Given the description of an element on the screen output the (x, y) to click on. 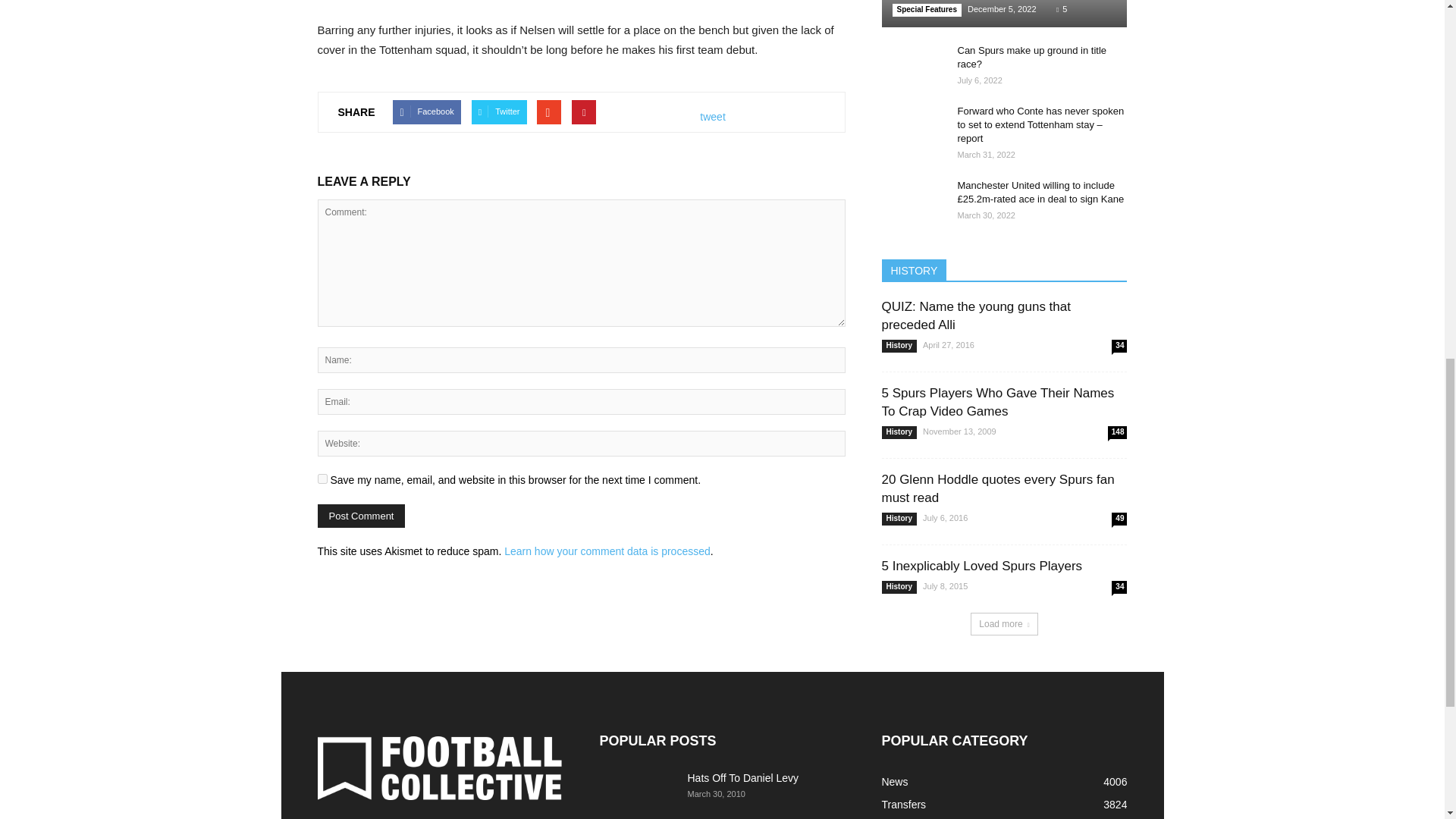
20 Glenn Hoddle quotes every Spurs fan must read (996, 488)
Post Comment (360, 515)
Will Son shine at the 2022 World Cup? (1003, 13)
Can Spurs make up ground in title race? (911, 64)
yes (321, 479)
5 Spurs Players Who Gave Their Names To Crap Video Games (996, 401)
QUIZ: Name the young guns that preceded Alli (975, 315)
Can Spurs make up ground in title race? (1031, 57)
